Given the description of an element on the screen output the (x, y) to click on. 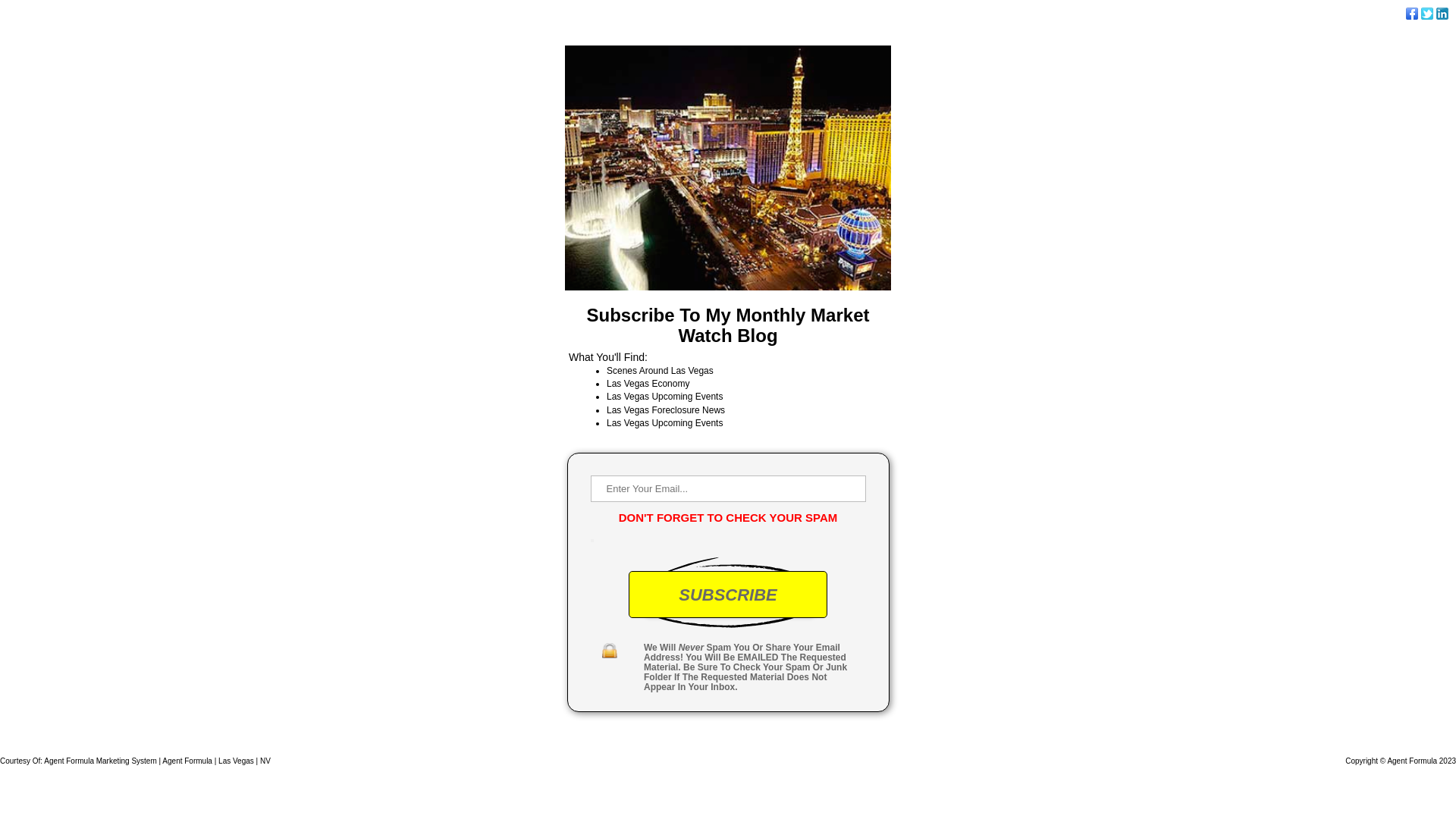
Share to Facebook Element type: hover (1411, 13)
Share to Twitter Element type: hover (1427, 13)
SUBSCRIBE Element type: text (727, 594)
